Given the description of an element on the screen output the (x, y) to click on. 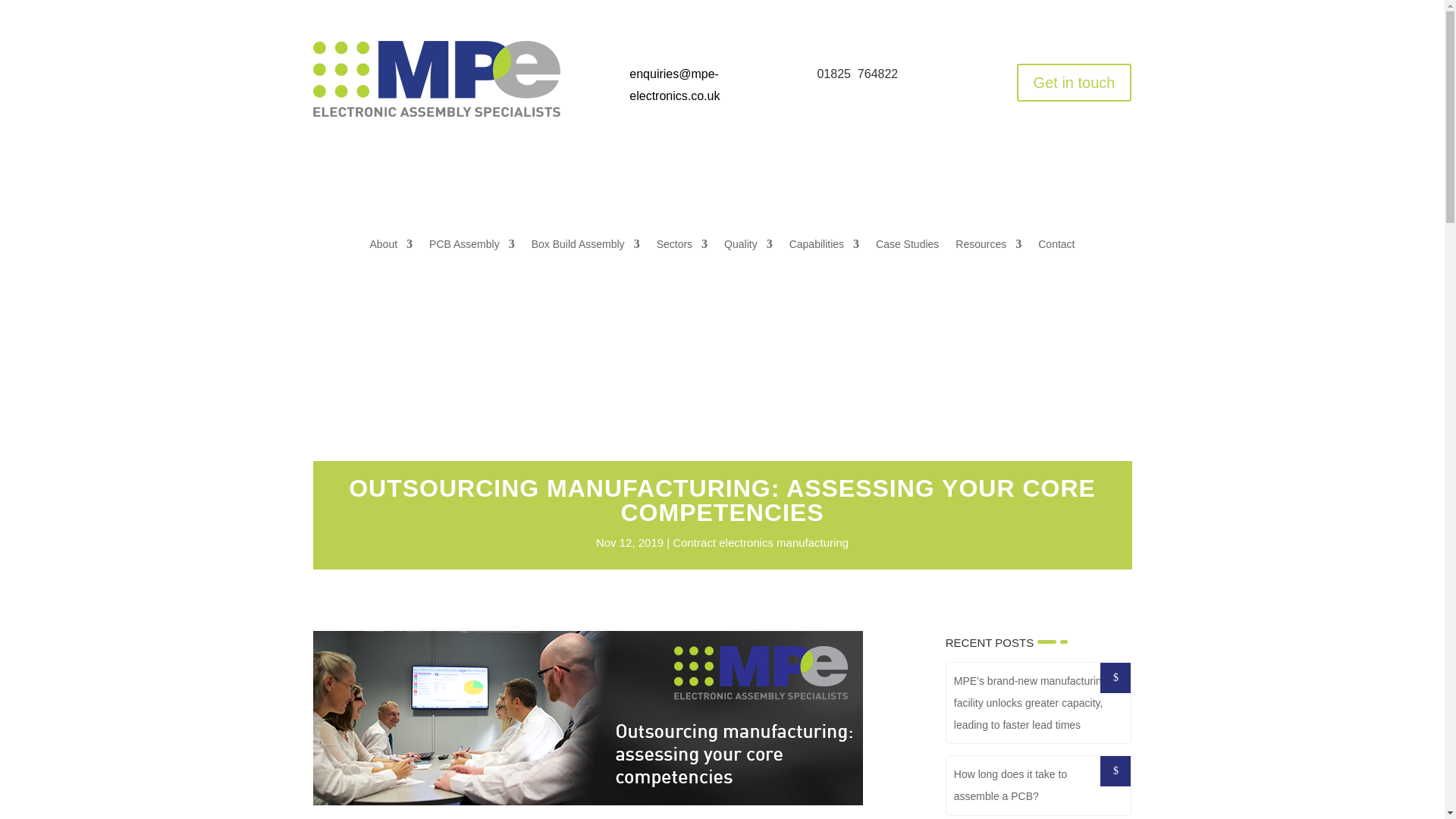
01825  764822 (857, 73)
Box Build Assembly (585, 247)
mpe-electronics-manufacturing (436, 78)
Quality (748, 247)
Capabilities (824, 247)
Resources (988, 247)
Get in touch (1074, 82)
Outsourcing manufacturing: assessing your core competencies (587, 717)
Sectors (681, 247)
About (390, 247)
